Given the description of an element on the screen output the (x, y) to click on. 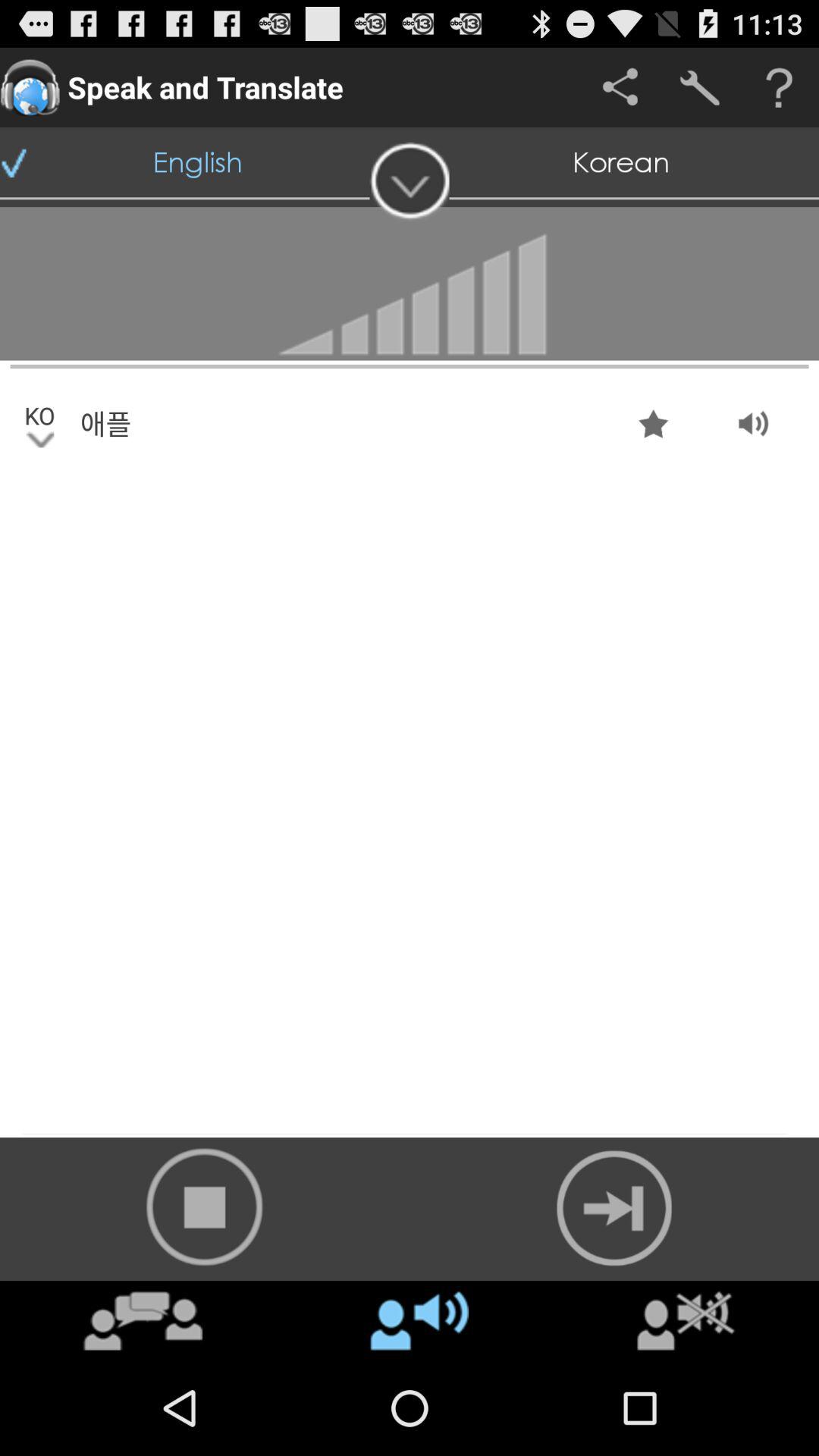
share and connect (619, 87)
